Given the description of an element on the screen output the (x, y) to click on. 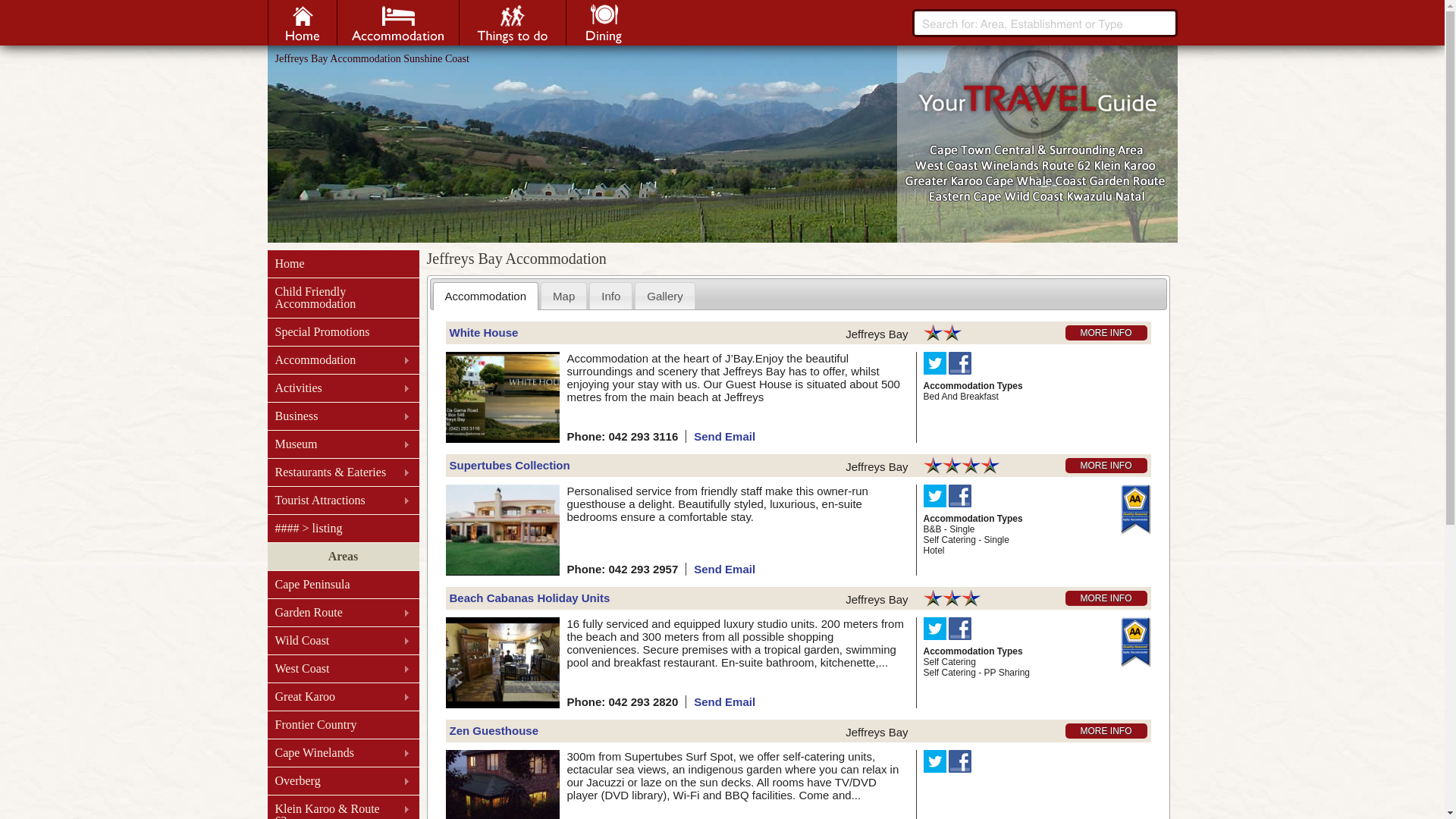
Beach Cabanas Holiday Units Jeffreys Bay  Accommodation (1105, 597)
Email White House (723, 435)
Email Supertubes Collection (723, 568)
Share Beach Cabanas Holiday Units on Twitter (934, 628)
Share Beach Cabanas Holiday Units on Facebook (960, 628)
White House Jeffreys Bay  Accommodation (1105, 331)
Share Supertubes Collection on Facebook (960, 495)
Share White House on Twitter (934, 363)
Email Beach Cabanas Holiday Units (723, 700)
Supertubes Collection Jeffreys Bay  Accommodation (502, 529)
Beach Cabanas Holiday Units Jeffreys Bay  Accommodation (502, 662)
Beach Cabanas Holiday Units Jeffreys Bay  Accommodation (529, 598)
White House Jeffreys Bay  Accommodation (483, 332)
Share White House on Facebook (960, 363)
Supertubes Collection Jeffreys Bay  Accommodation (508, 464)
